Given the description of an element on the screen output the (x, y) to click on. 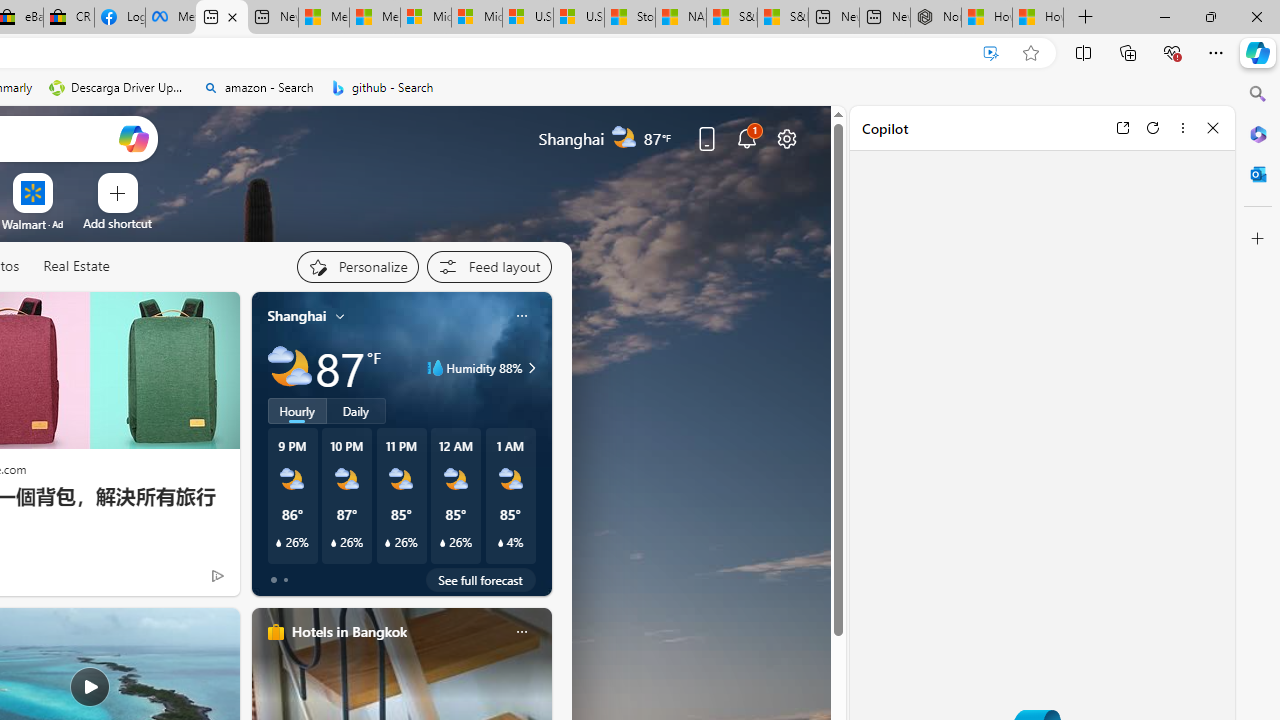
Meta Store (170, 17)
Copilot (Ctrl+Shift+.) (1258, 52)
See full forecast (480, 579)
hotels-header-icon (275, 632)
amazon - Search (258, 88)
Humidity 88% (529, 367)
Refresh (1153, 127)
New Tab (1085, 17)
Daily (356, 411)
Real Estate (75, 267)
